Given the description of an element on the screen output the (x, y) to click on. 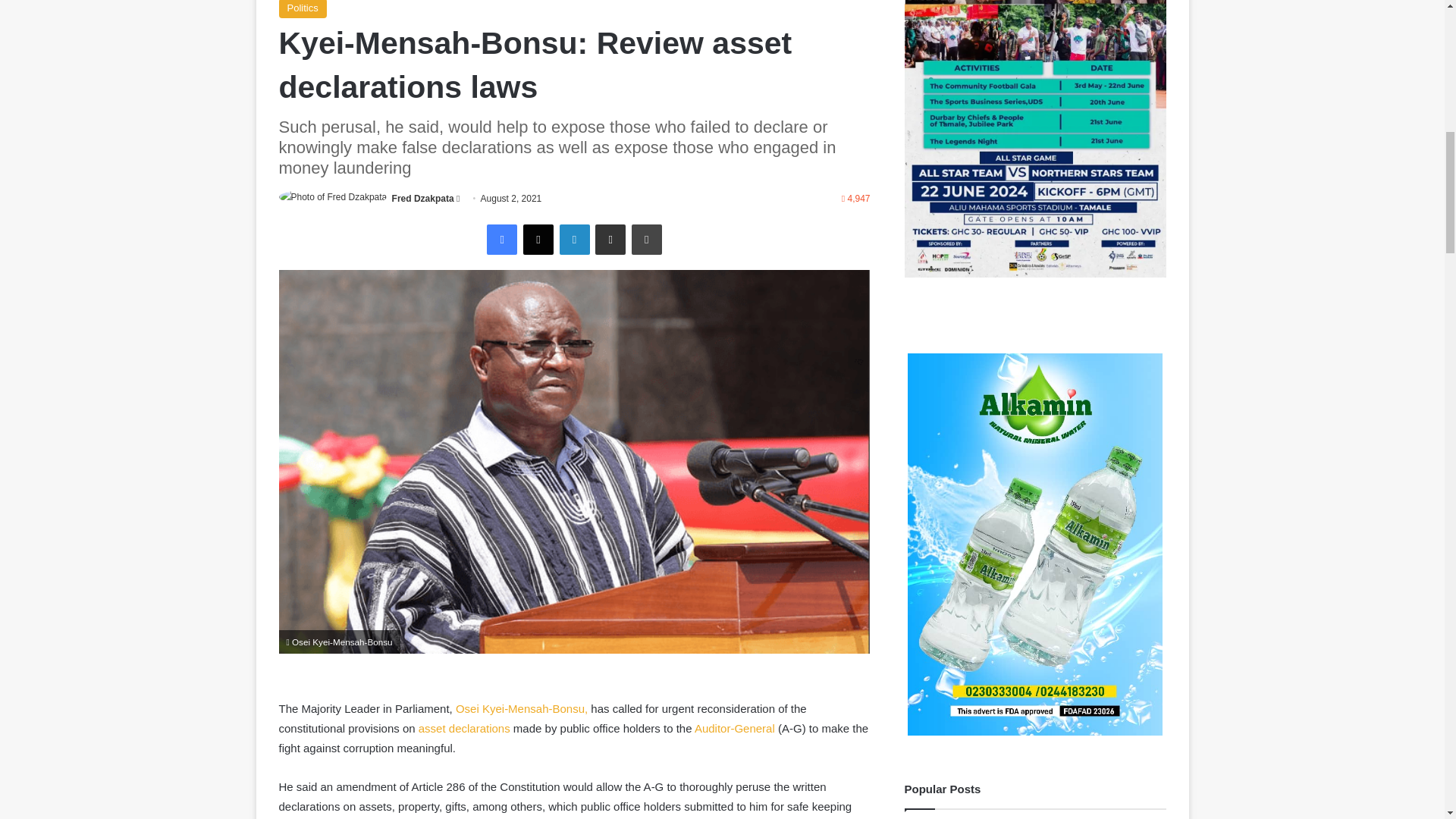
LinkedIn (574, 239)
Fred Dzakpata (422, 198)
Facebook (501, 239)
X (537, 239)
